Given the description of an element on the screen output the (x, y) to click on. 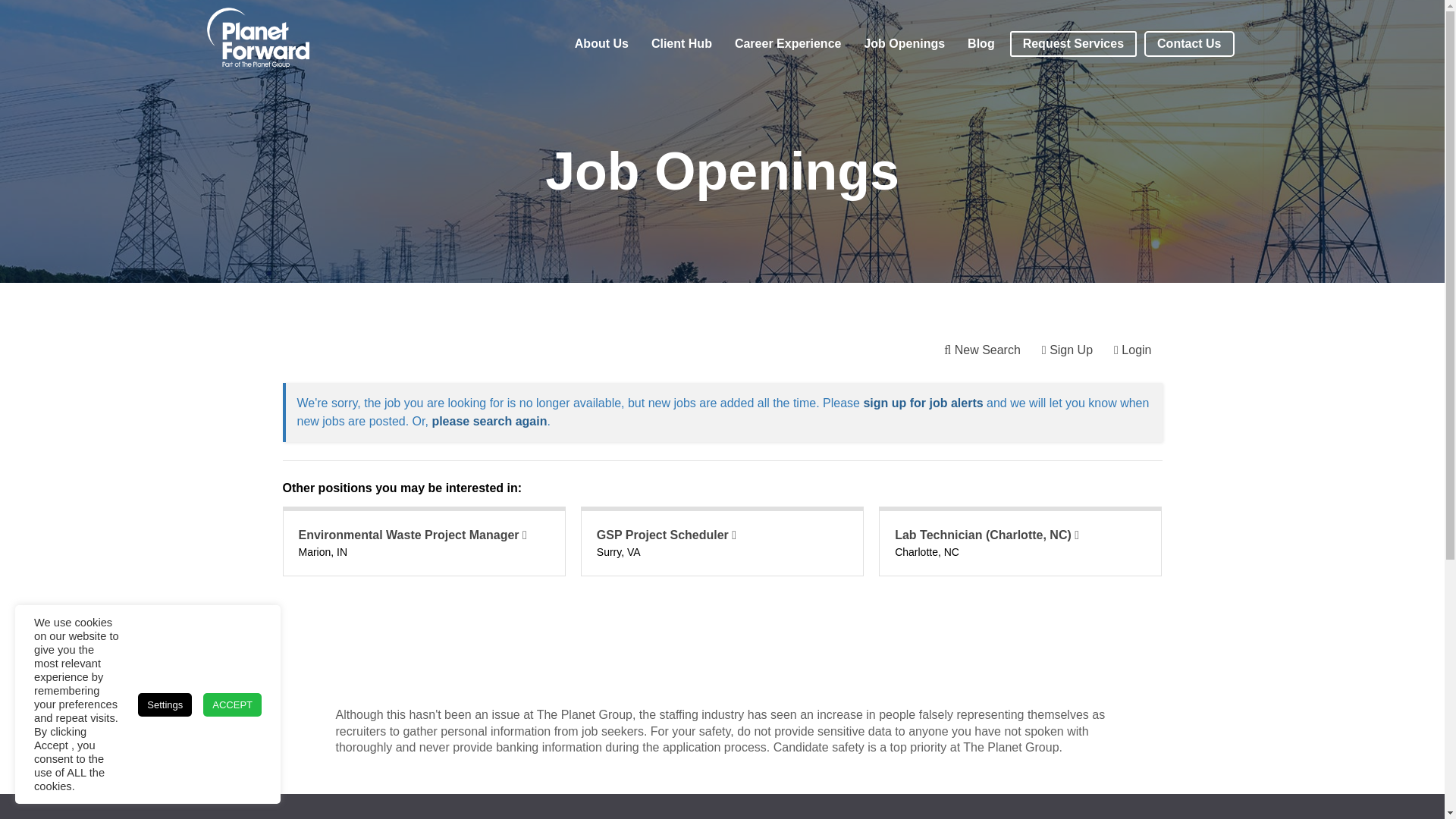
Career Experience (787, 43)
Job Openings (904, 43)
planet-forward-white (257, 37)
Client Hub (681, 43)
Contact Us (1188, 43)
About Us (601, 43)
Blog (981, 43)
Request Services (1073, 43)
